Given the description of an element on the screen output the (x, y) to click on. 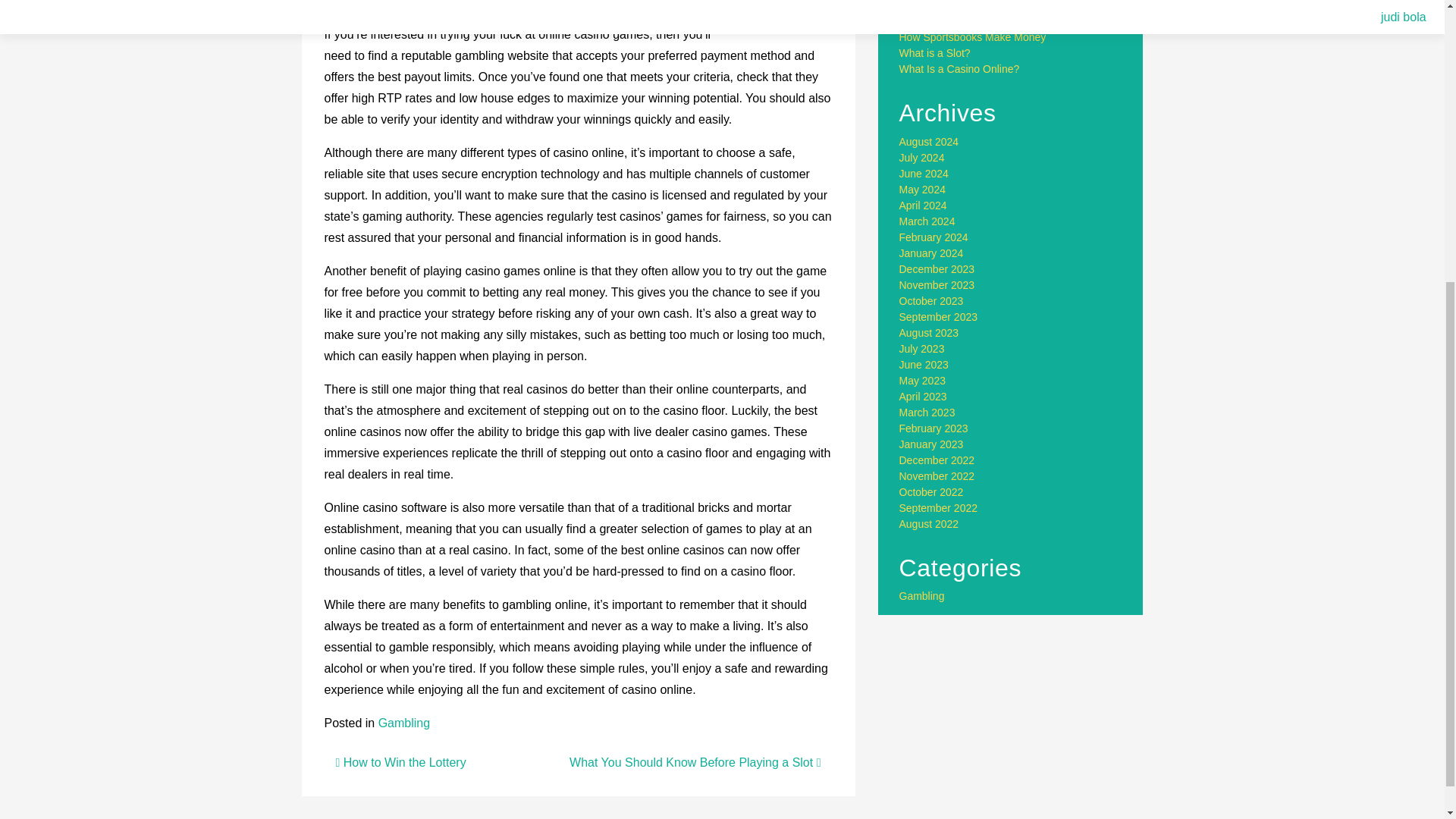
April 2024 (923, 205)
July 2024 (921, 157)
How Sportsbooks Make Money (972, 37)
January 2024 (931, 253)
March 2024 (927, 221)
October 2023 (931, 300)
April 2023 (923, 396)
The History of the Lottery (958, 5)
September 2022 (938, 508)
May 2024 (921, 189)
March 2023 (927, 412)
November 2022 (937, 476)
What You Should Know Before Playing a Slot  (695, 762)
What is a Slot? (935, 52)
February 2023 (933, 428)
